Given the description of an element on the screen output the (x, y) to click on. 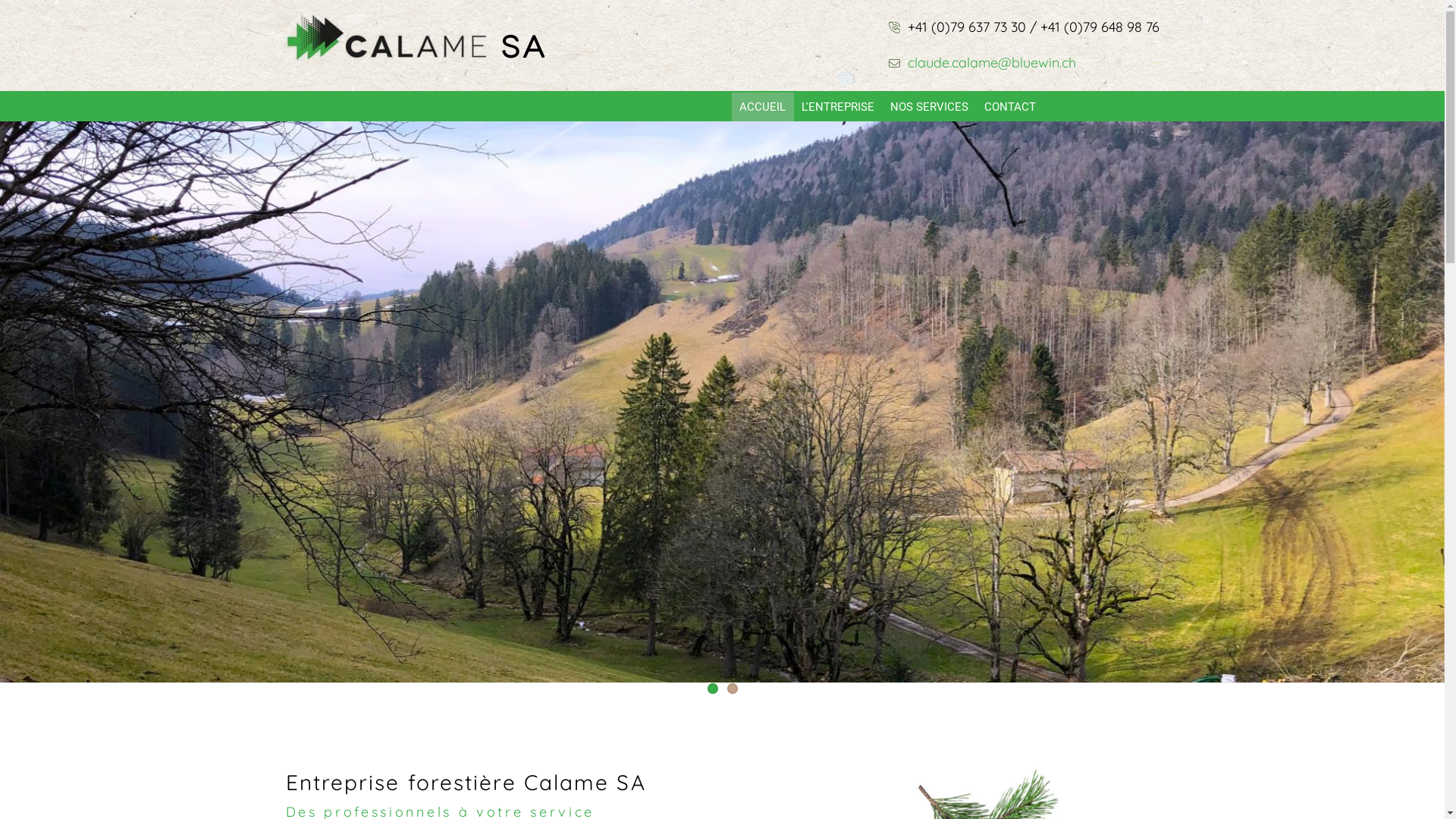
ACCUEIL Element type: text (761, 106)
L'ENTREPRISE Element type: text (836, 106)
claude.calame@bluewin.ch Element type: text (989, 62)
NOS SERVICES Element type: text (929, 106)
CONTACT Element type: text (1009, 106)
1 Element type: text (711, 688)
2 Element type: text (731, 688)
